Given the description of an element on the screen output the (x, y) to click on. 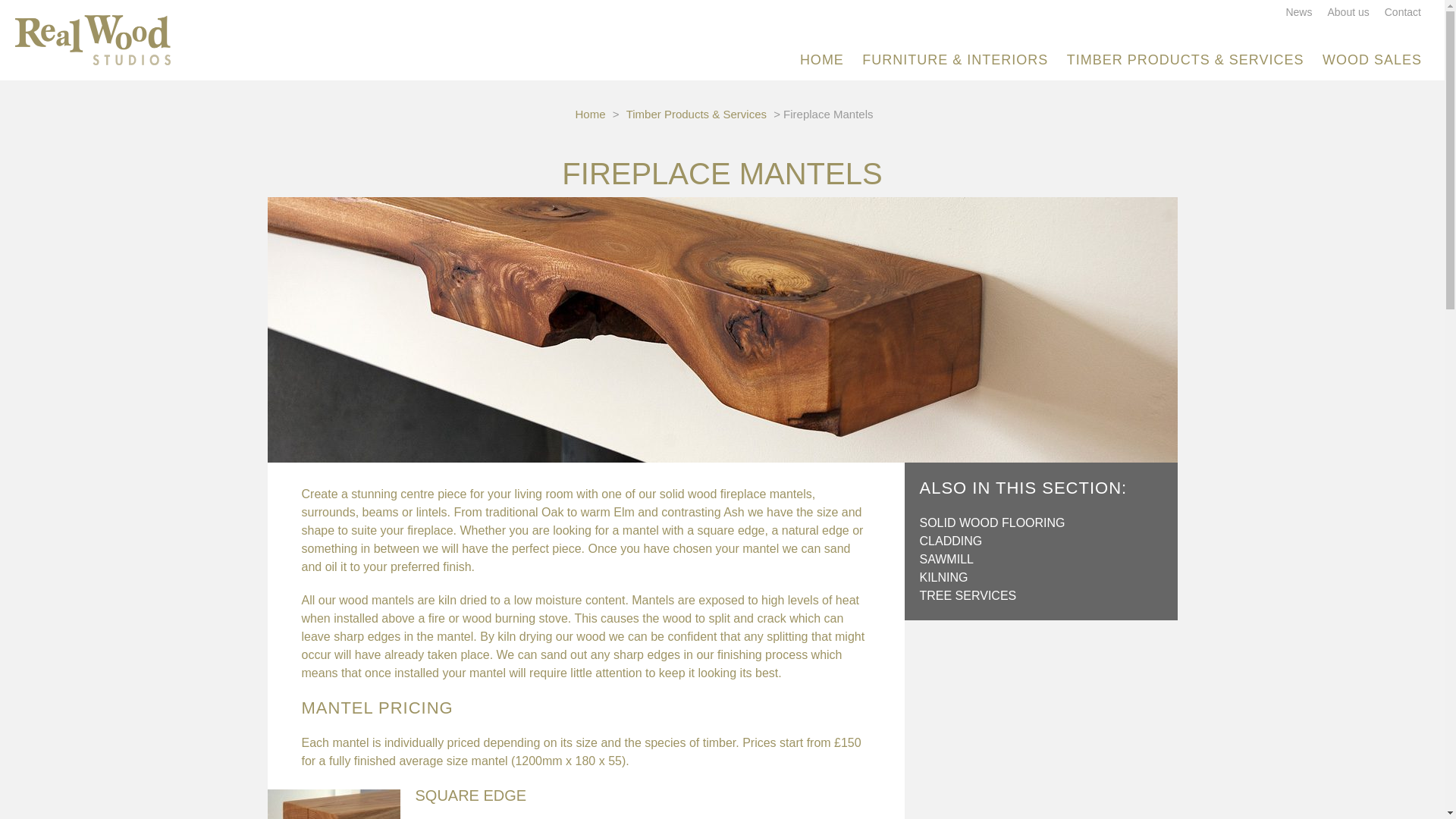
SOLID WOOD FLOORING (991, 522)
TREE SERVICES (967, 594)
CLADDING (949, 540)
HOME (821, 59)
KILNING (943, 576)
Go to Real Wood Studios. (590, 113)
Contact (1402, 11)
Real Wood Studios (93, 40)
SAWMILL (945, 558)
Home (590, 113)
WOOD SALES (1372, 59)
About us (1347, 11)
News (1298, 11)
